Given the description of an element on the screen output the (x, y) to click on. 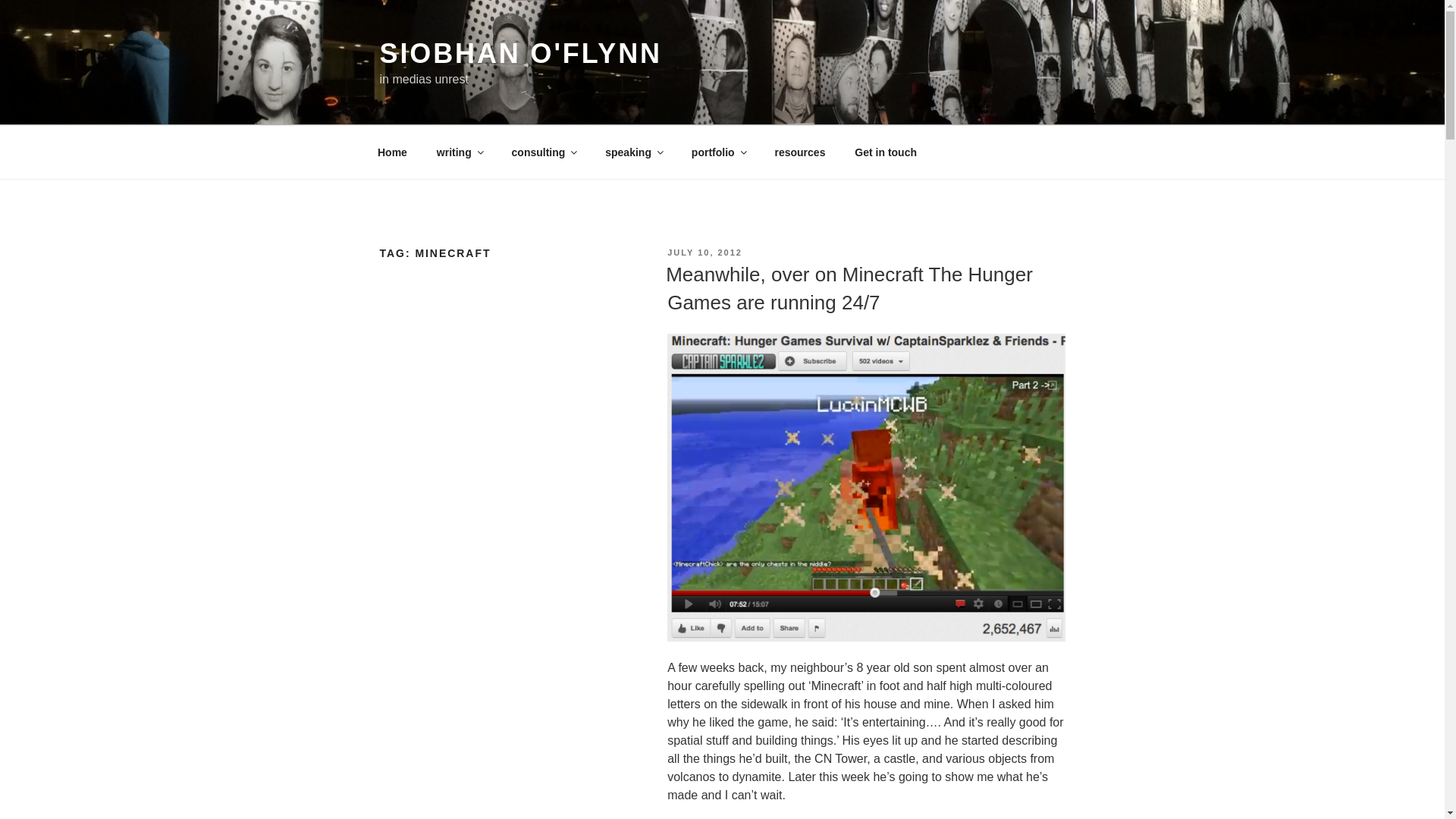
consulting (543, 151)
Home (392, 151)
portfolio (718, 151)
JULY 10, 2012 (704, 252)
SIOBHAN O'FLYNN (519, 52)
resources (799, 151)
speaking (633, 151)
writing (459, 151)
Get in touch (885, 151)
